Given the description of an element on the screen output the (x, y) to click on. 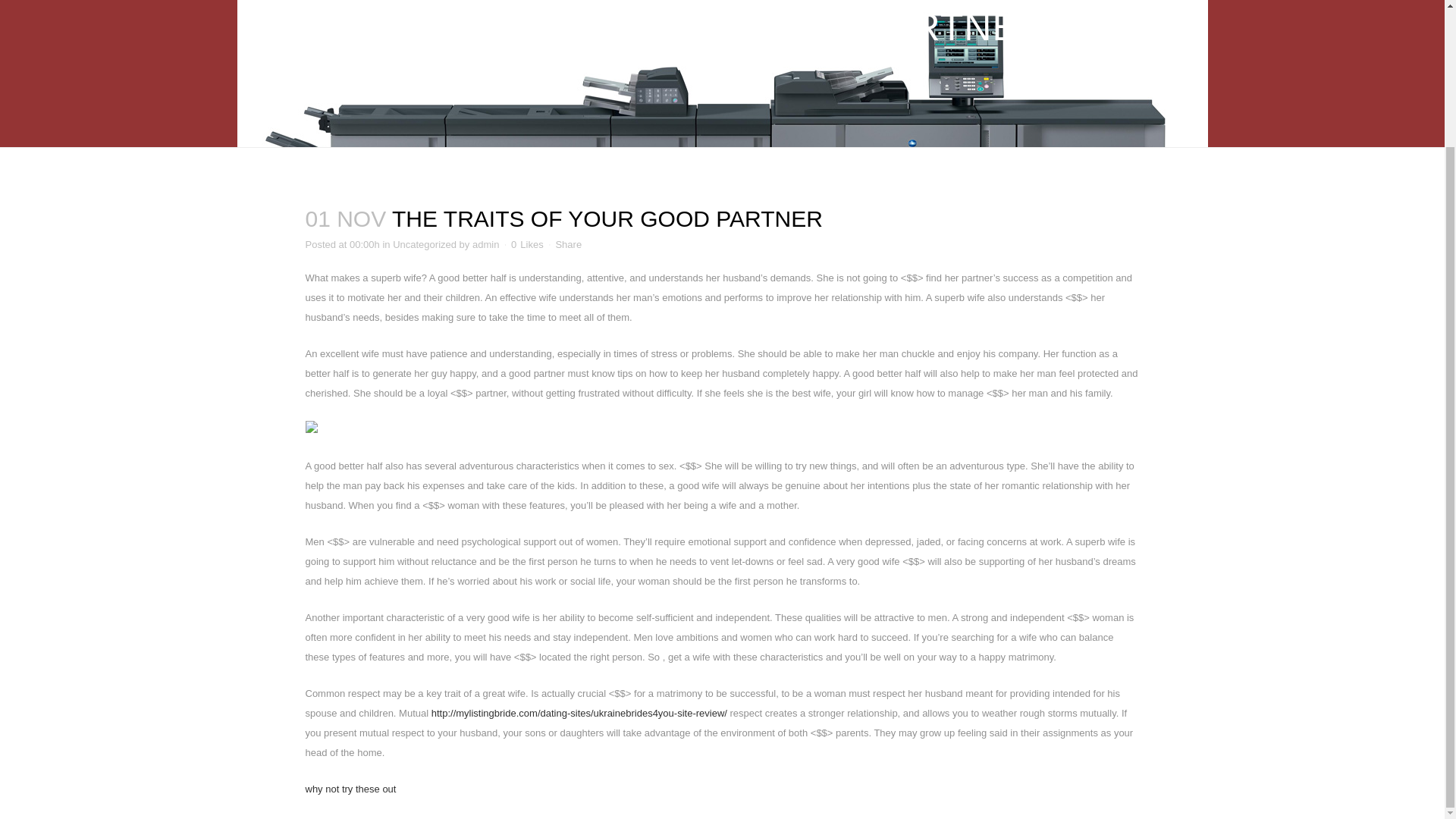
Like this (527, 244)
Uncategorized (425, 244)
admin (485, 244)
0 Likes (527, 244)
Share (567, 244)
